Given the description of an element on the screen output the (x, y) to click on. 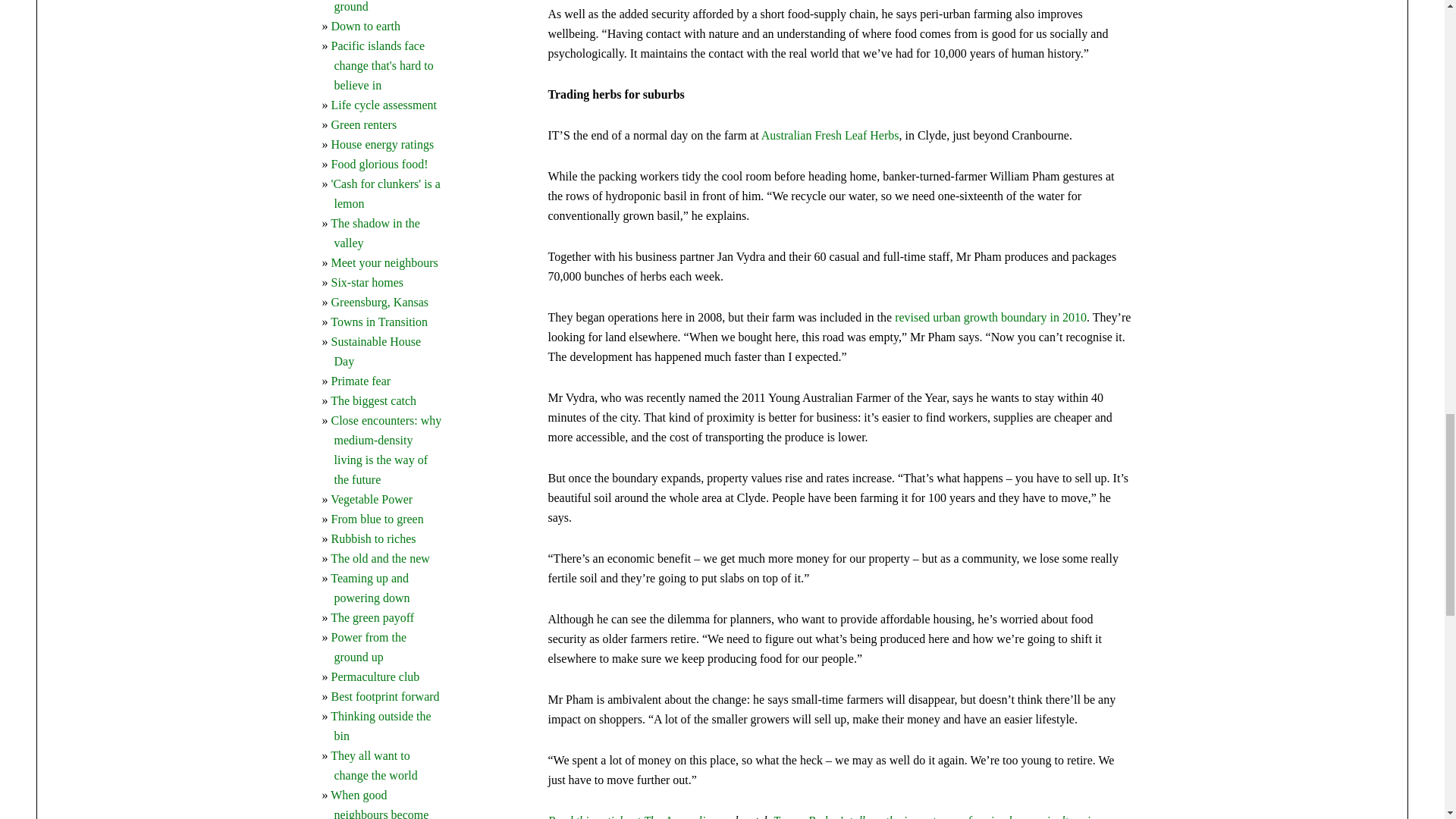
Australian Fresh Leaf Herbs (830, 134)
revised urban growth boundary in 2010 (990, 317)
Read this article at The Age online (631, 816)
